Given the description of an element on the screen output the (x, y) to click on. 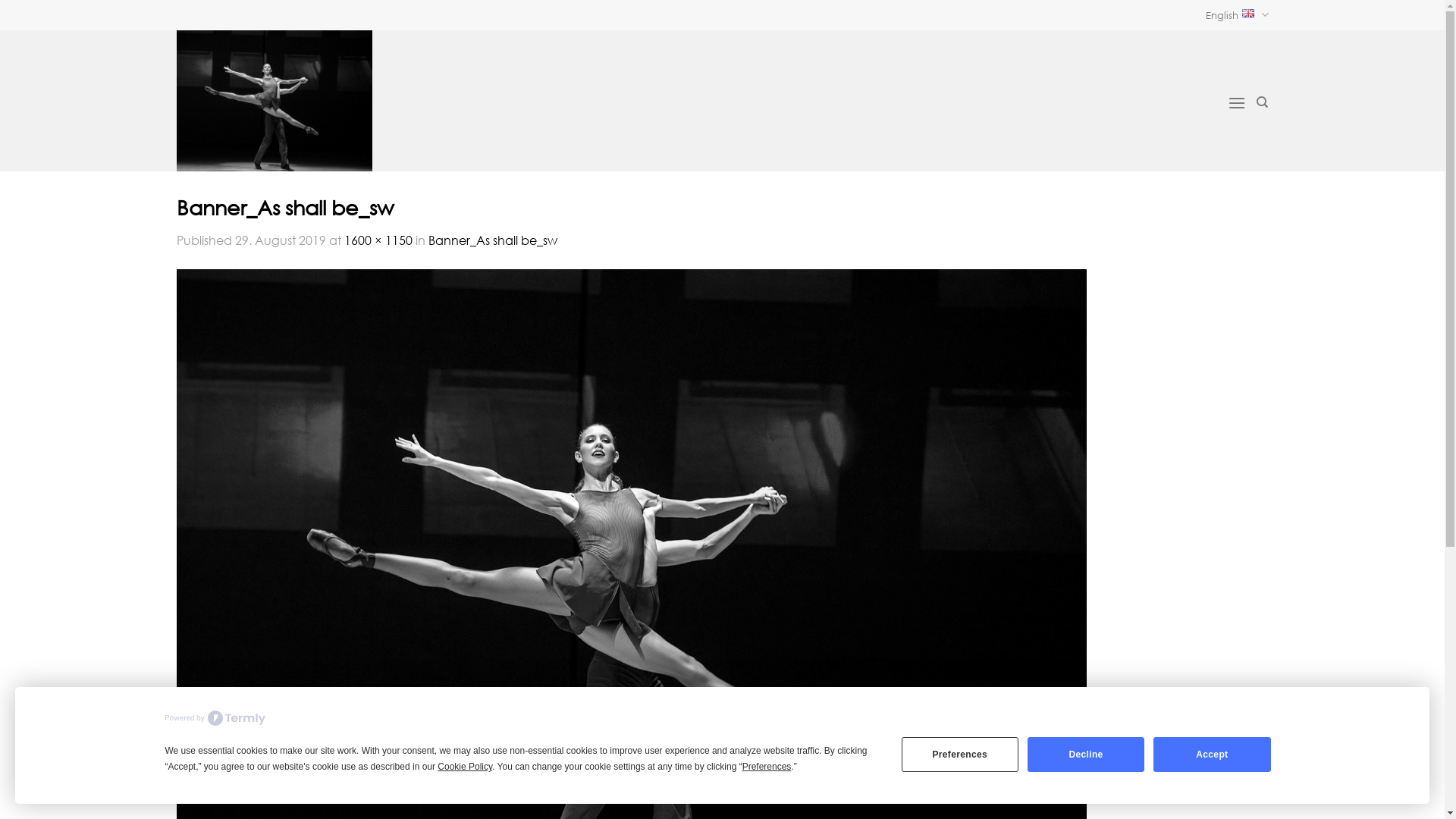
English Element type: text (1236, 14)
Ballettschule Theater Basel Element type: hover (440, 100)
Accept Element type: text (1211, 754)
Decline Element type: text (1085, 754)
Preferences Element type: text (959, 754)
Banner_As shall be_sw Element type: hover (630, 594)
Banner_As shall be_sw Element type: text (491, 239)
